Given the description of an element on the screen output the (x, y) to click on. 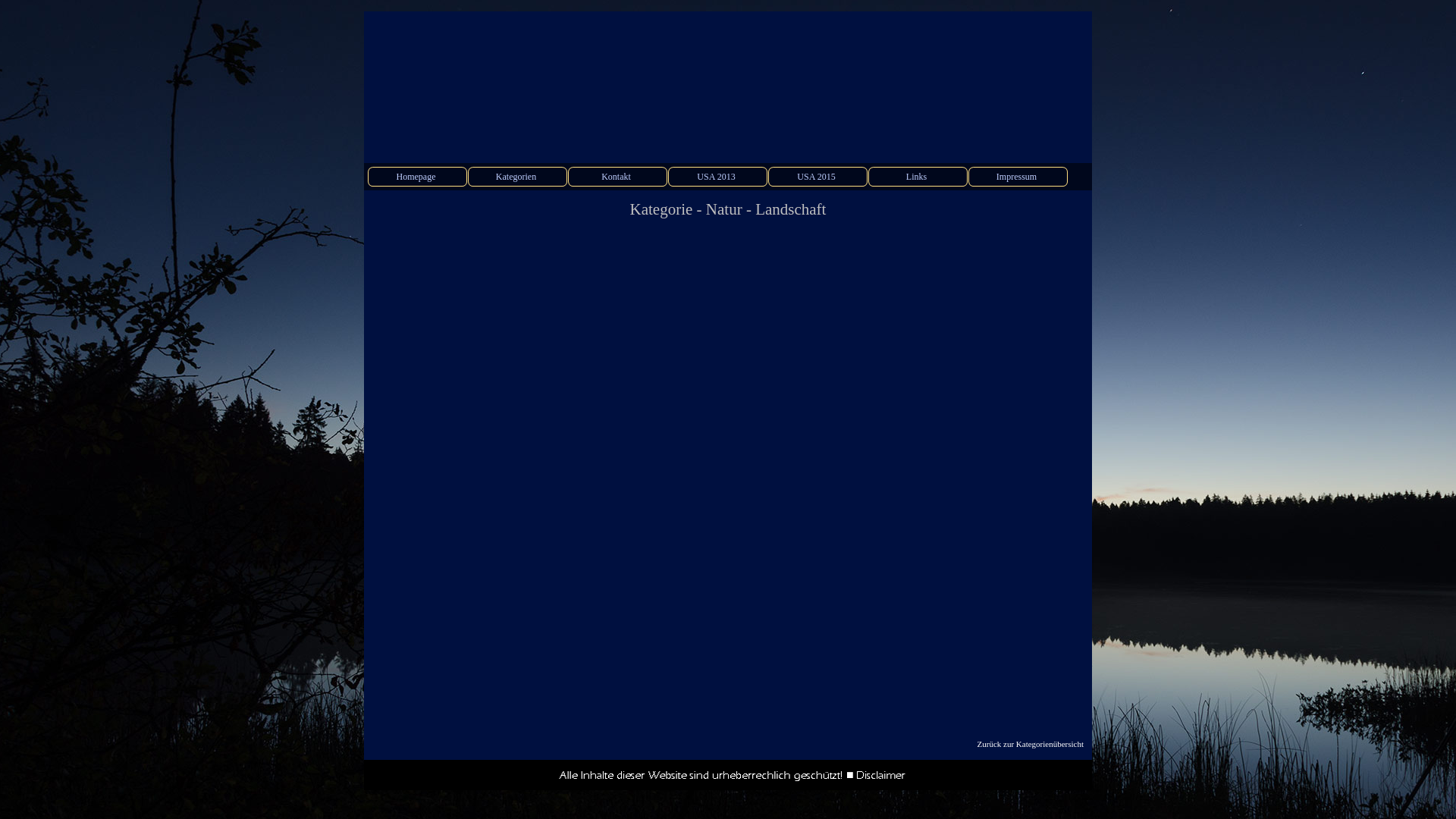
Links Element type: text (918, 176)
Kategorien Element type: text (517, 176)
Impressum Element type: text (1018, 176)
Kontakt Element type: text (617, 176)
USA 2013 Element type: text (718, 176)
USA 2015 Element type: text (818, 176)
Homepage Element type: text (417, 176)
